Given the description of an element on the screen output the (x, y) to click on. 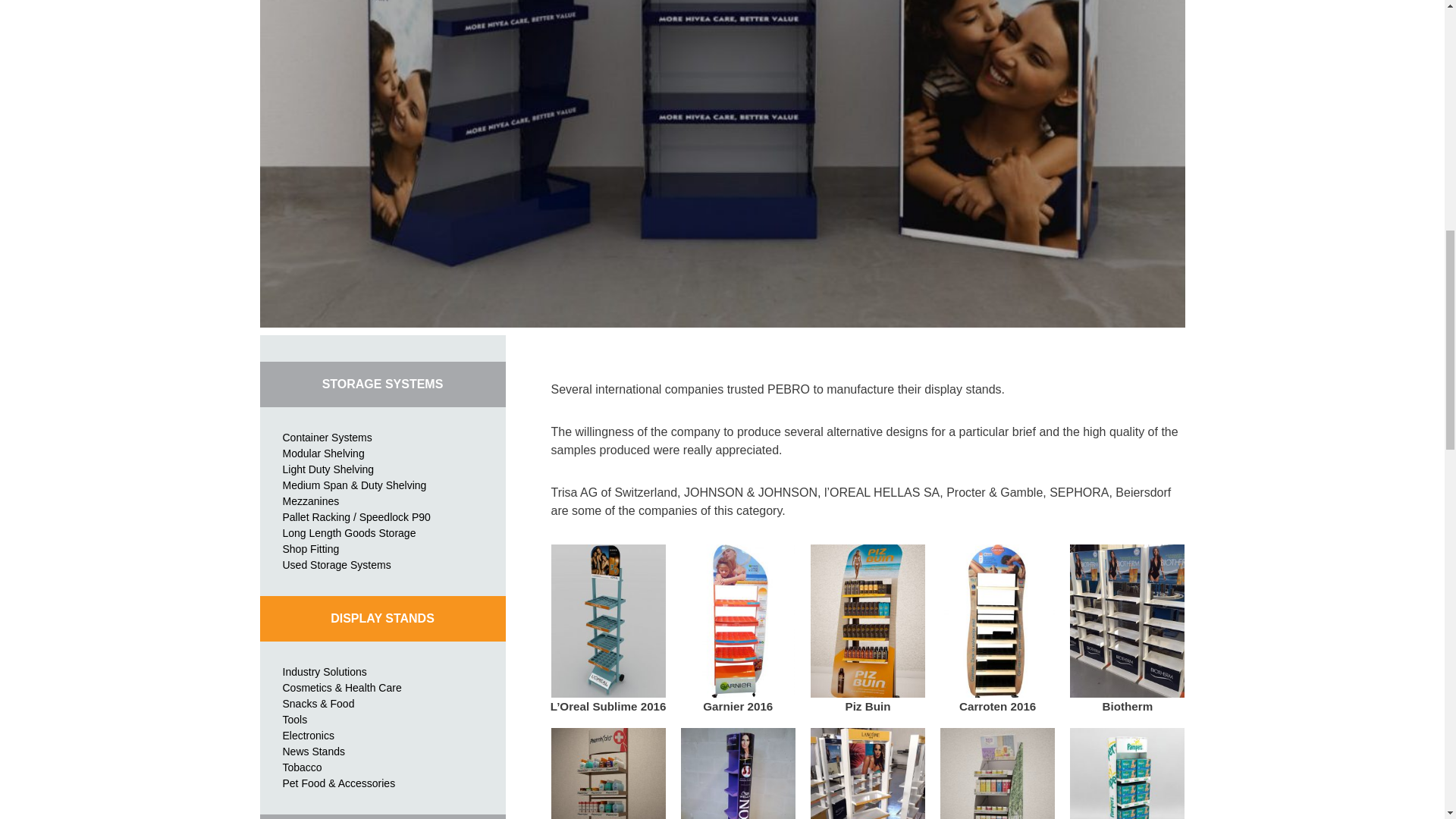
Container Systems (326, 437)
Light Duty Shelving (328, 469)
Long Length Goods Storage (348, 532)
Used Storage Systems (336, 564)
Industry Solutions (324, 671)
Mezzanines (310, 500)
Shop Fitting (310, 548)
DISPLAY STANDS (382, 618)
STORAGE SYSTEMS (382, 384)
Modular Shelving (323, 453)
